Given the description of an element on the screen output the (x, y) to click on. 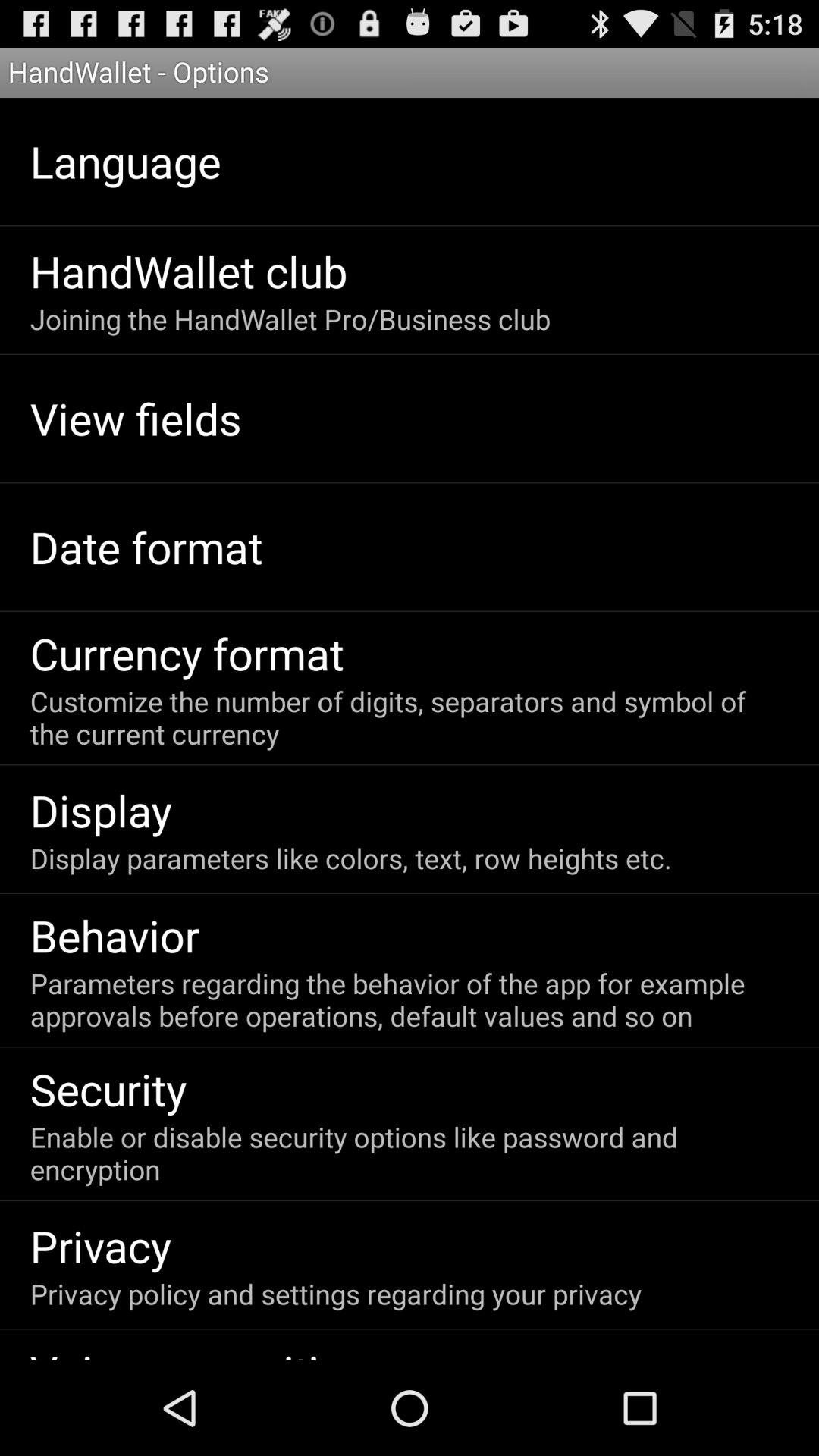
swipe until the language app (125, 160)
